Given the description of an element on the screen output the (x, y) to click on. 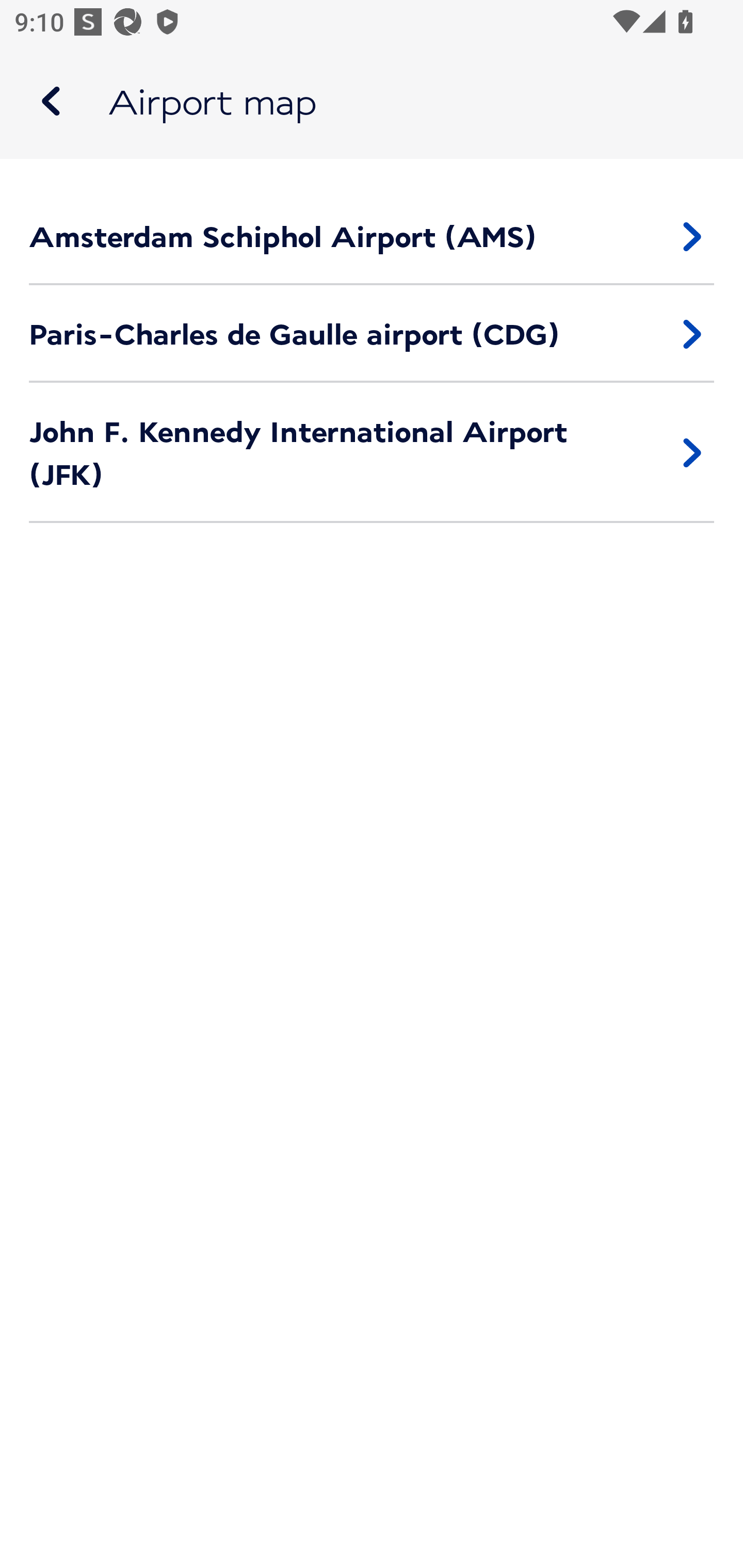
Airport map (371, 100)
Amsterdam Schiphol Airport (AMS) (371, 236)
Paris-Charles de Gaulle airport (CDG) (371, 333)
John F. Kennedy International Airport (JFK) (371, 452)
